Given the description of an element on the screen output the (x, y) to click on. 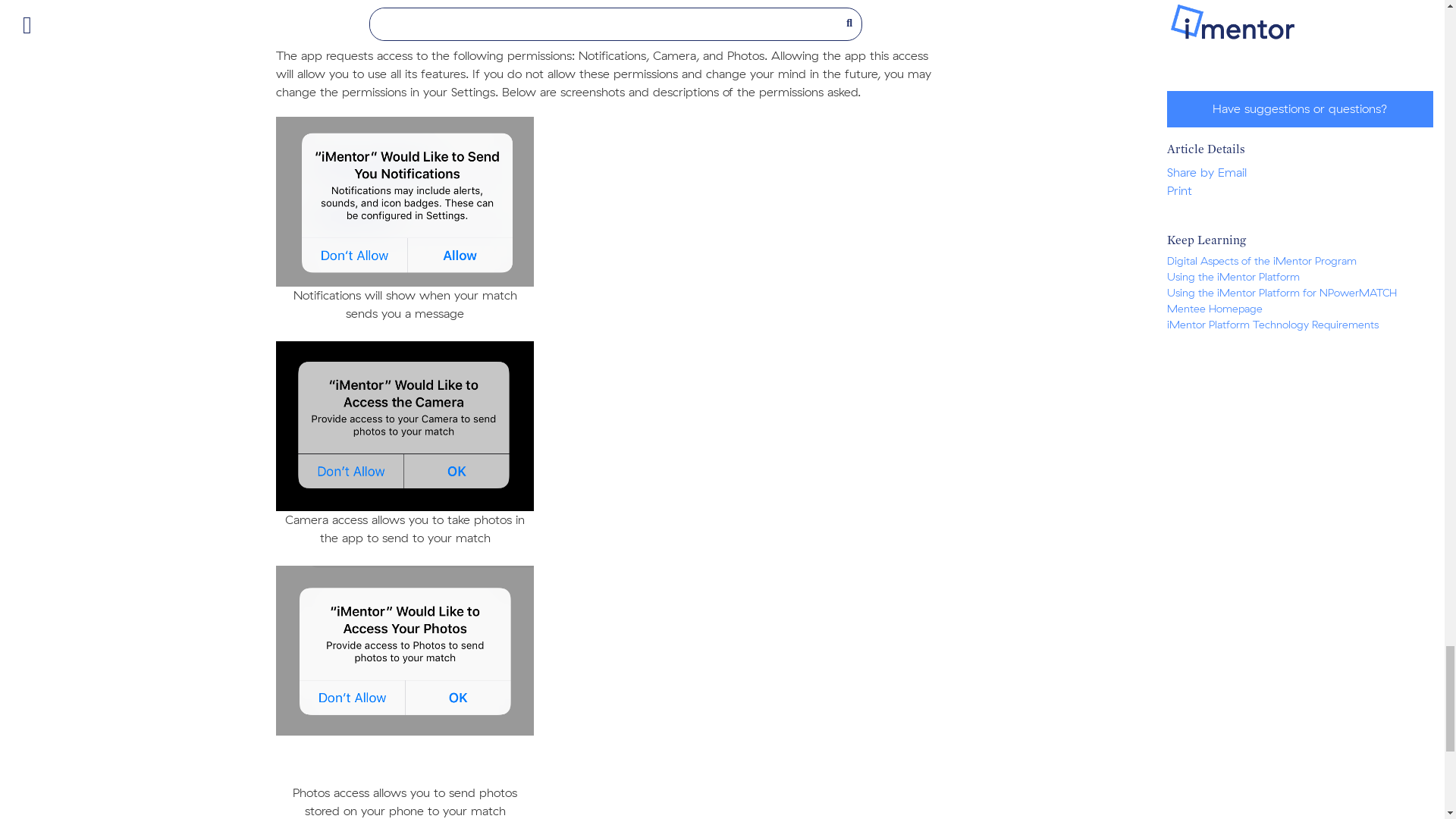
Notifications will show when your match sends you a message (405, 201)
